Given the description of an element on the screen output the (x, y) to click on. 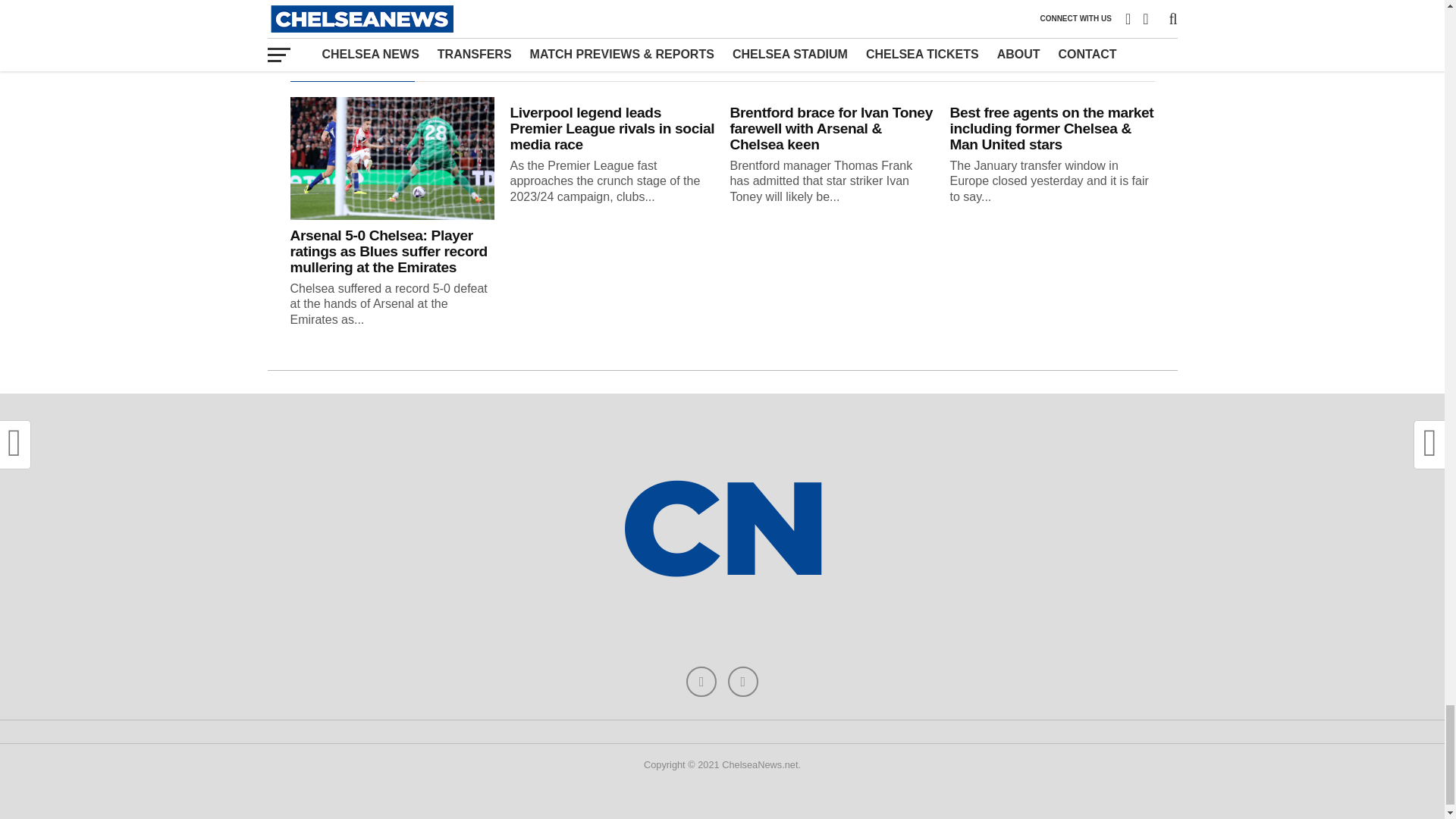
ARSENAL (478, 9)
MANCHESTER UNITED (642, 9)
PREMIER LEAGUE (760, 9)
CHELSEA (546, 9)
